Given the description of an element on the screen output the (x, y) to click on. 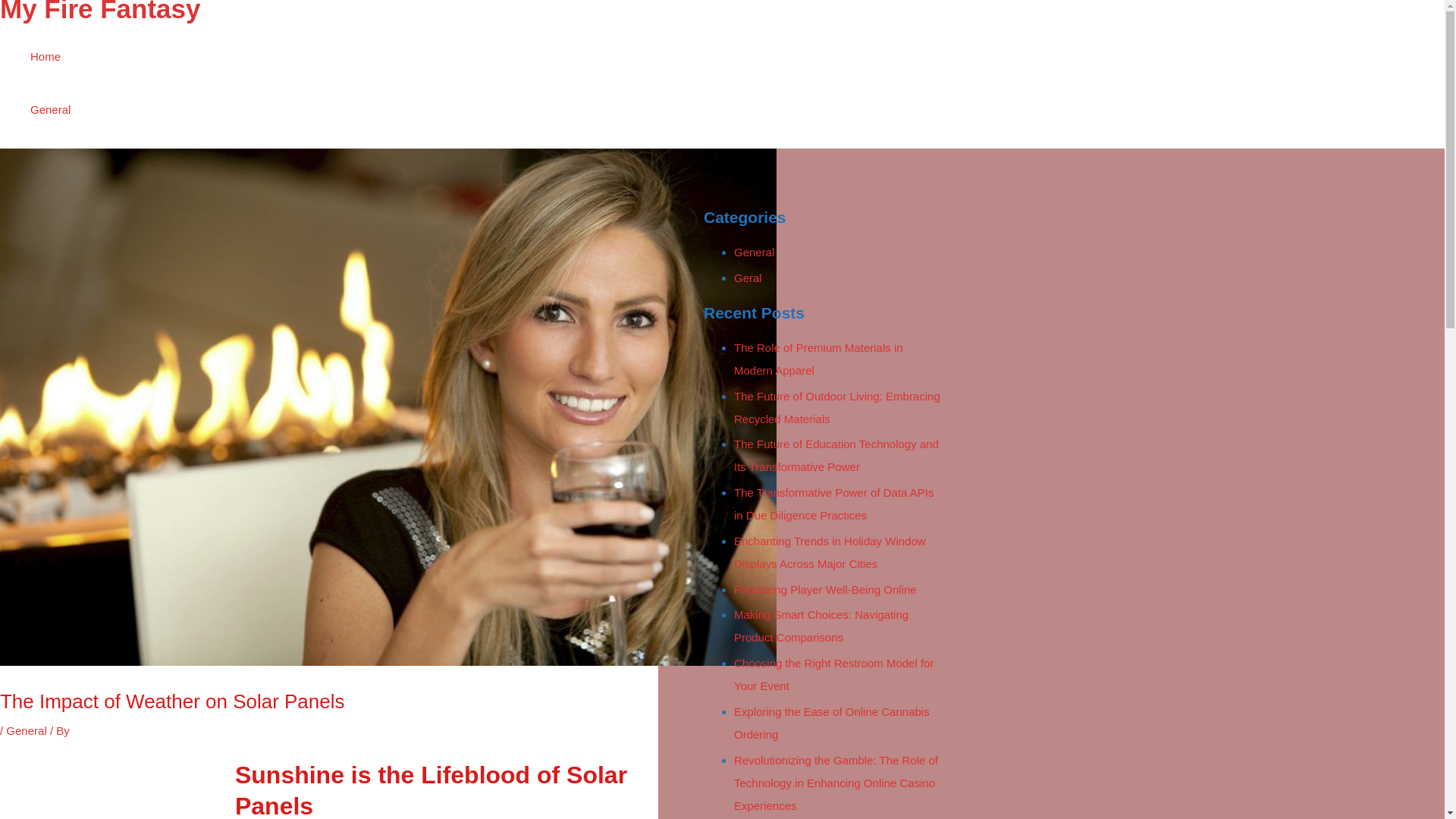
The Role of Premium Materials in Modern Apparel (817, 358)
Geral (747, 277)
General (25, 730)
Making Smart Choices: Navigating Product Comparisons (820, 625)
Choosing the Right Restroom Model for Your Event (833, 674)
Prioritizing Player Well-Being Online (825, 589)
